Given the description of an element on the screen output the (x, y) to click on. 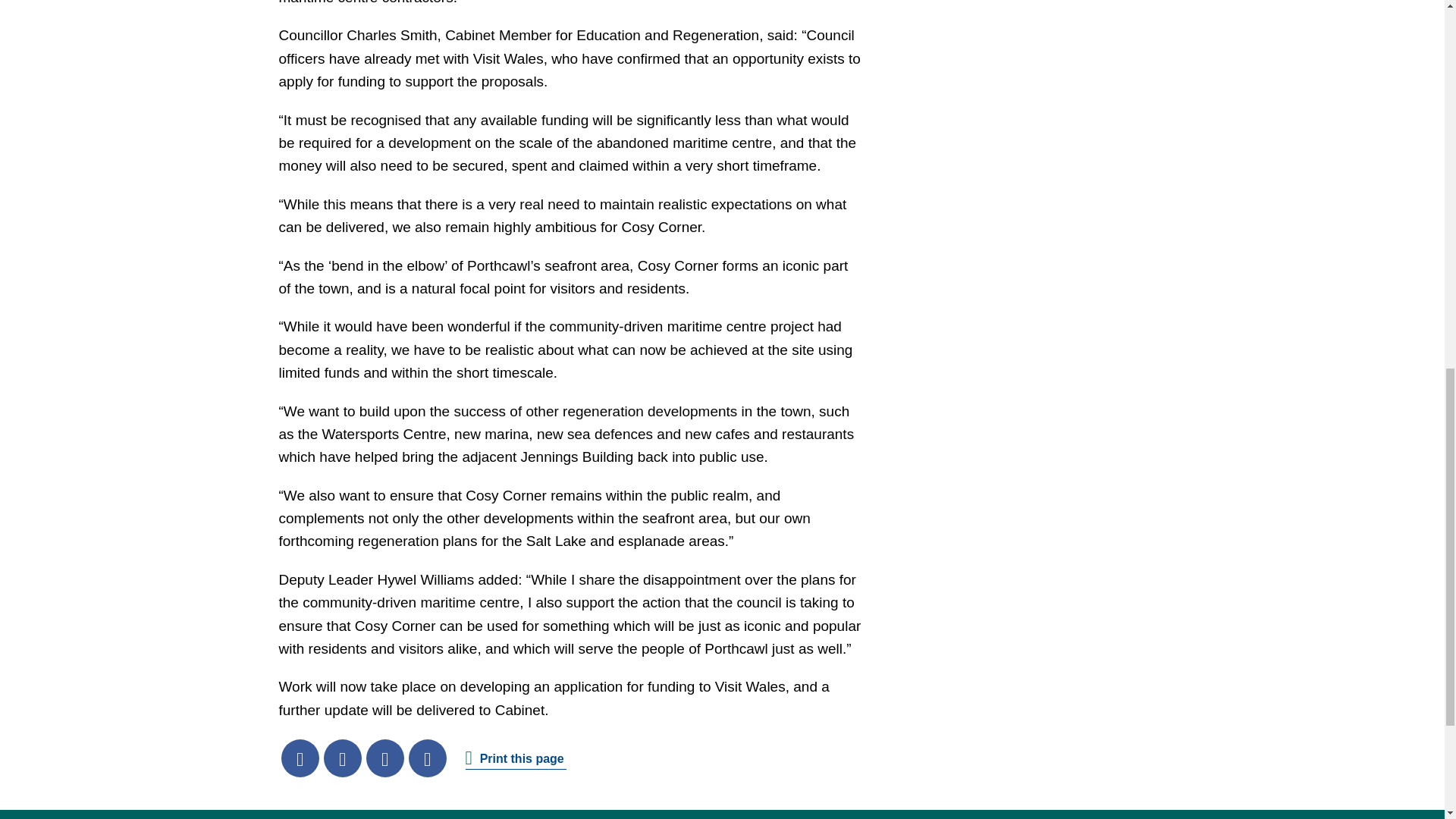
Share on  Pinterest (426, 758)
Share on Twitter (342, 758)
Share on Pinterest (426, 758)
Share on  LinkedIn (384, 758)
Share on Facebook (299, 758)
Print this page (515, 757)
Share on  Facebook (299, 758)
Share on  Twitter (342, 758)
Print this page (515, 757)
Share on LinkedIn (384, 758)
